Given the description of an element on the screen output the (x, y) to click on. 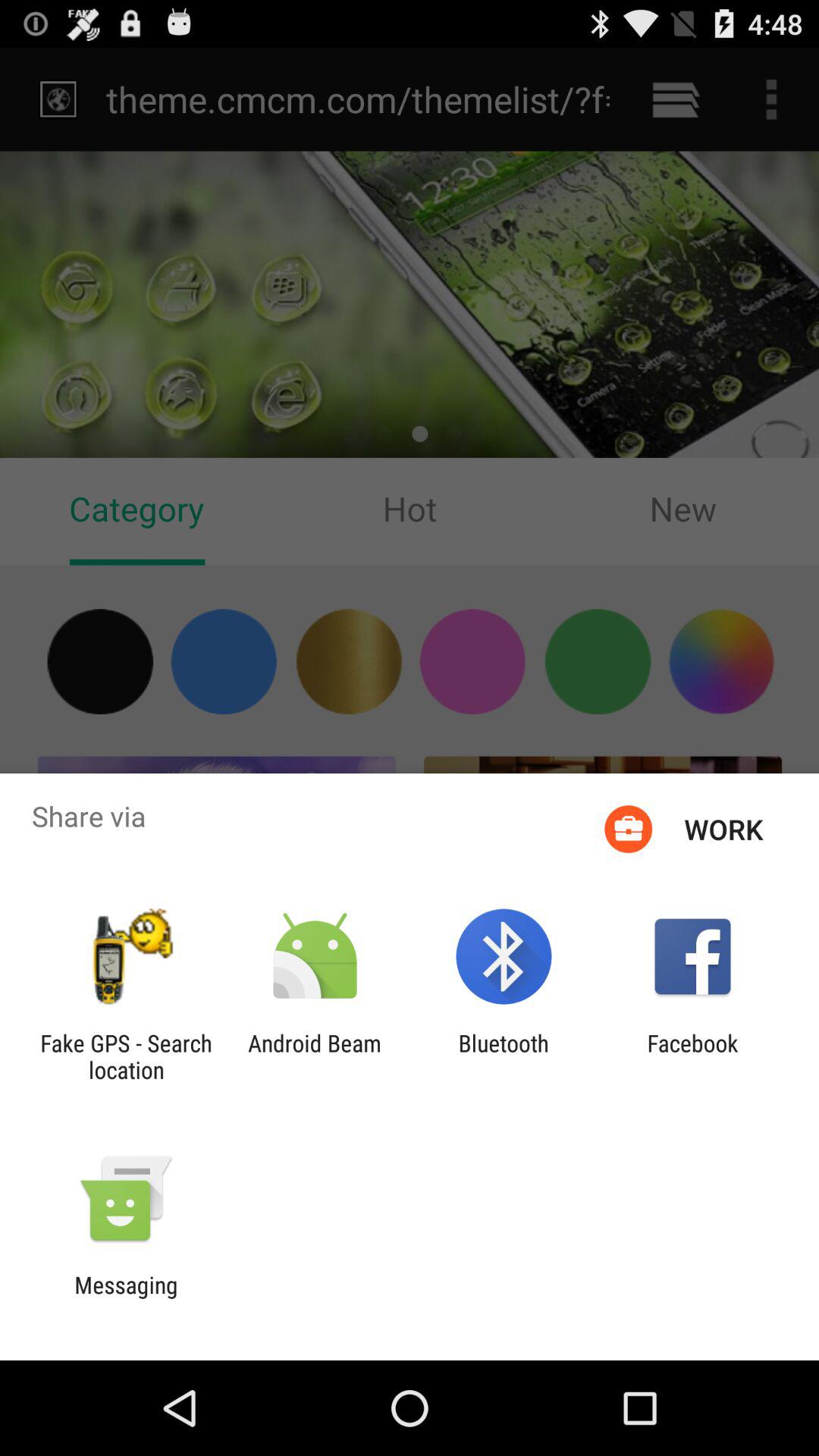
press bluetooth (503, 1056)
